Given the description of an element on the screen output the (x, y) to click on. 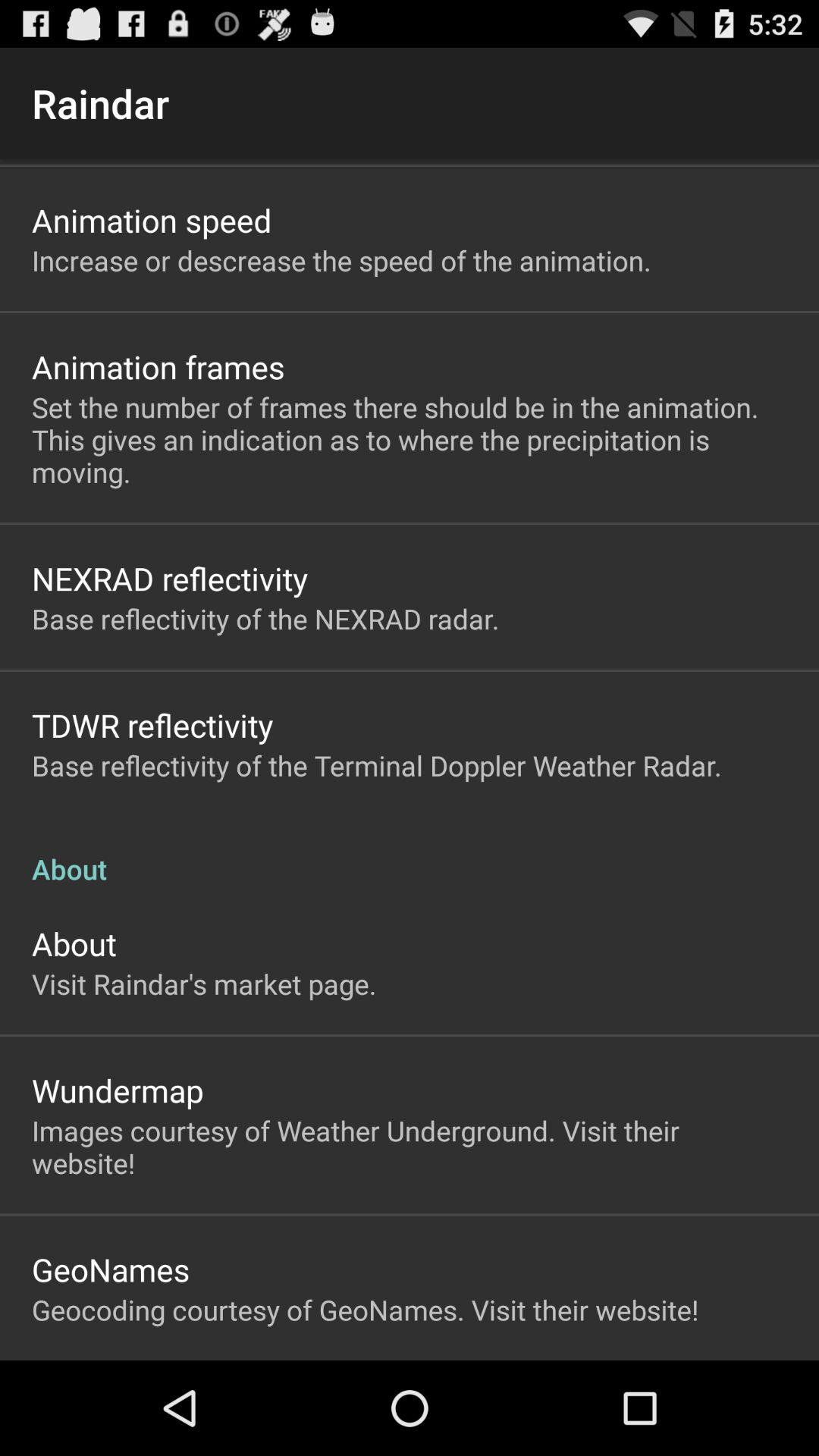
press icon above the animation frames (341, 260)
